Given the description of an element on the screen output the (x, y) to click on. 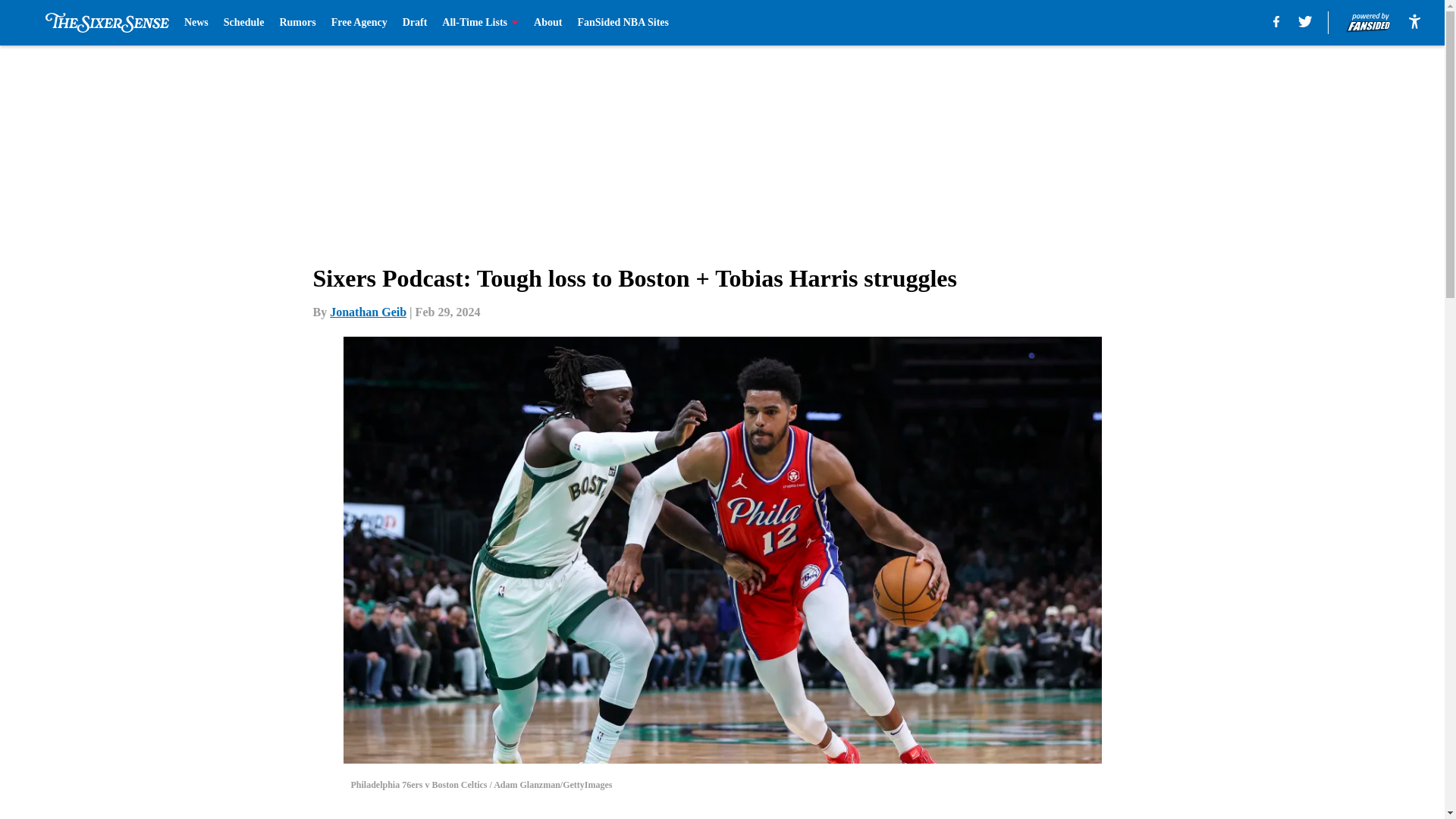
Rumors (297, 22)
About (548, 22)
Draft (415, 22)
Schedule (244, 22)
Jonathan Geib (368, 311)
All-Time Lists (480, 22)
News (196, 22)
FanSided NBA Sites (622, 22)
Free Agency (359, 22)
